Given the description of an element on the screen output the (x, y) to click on. 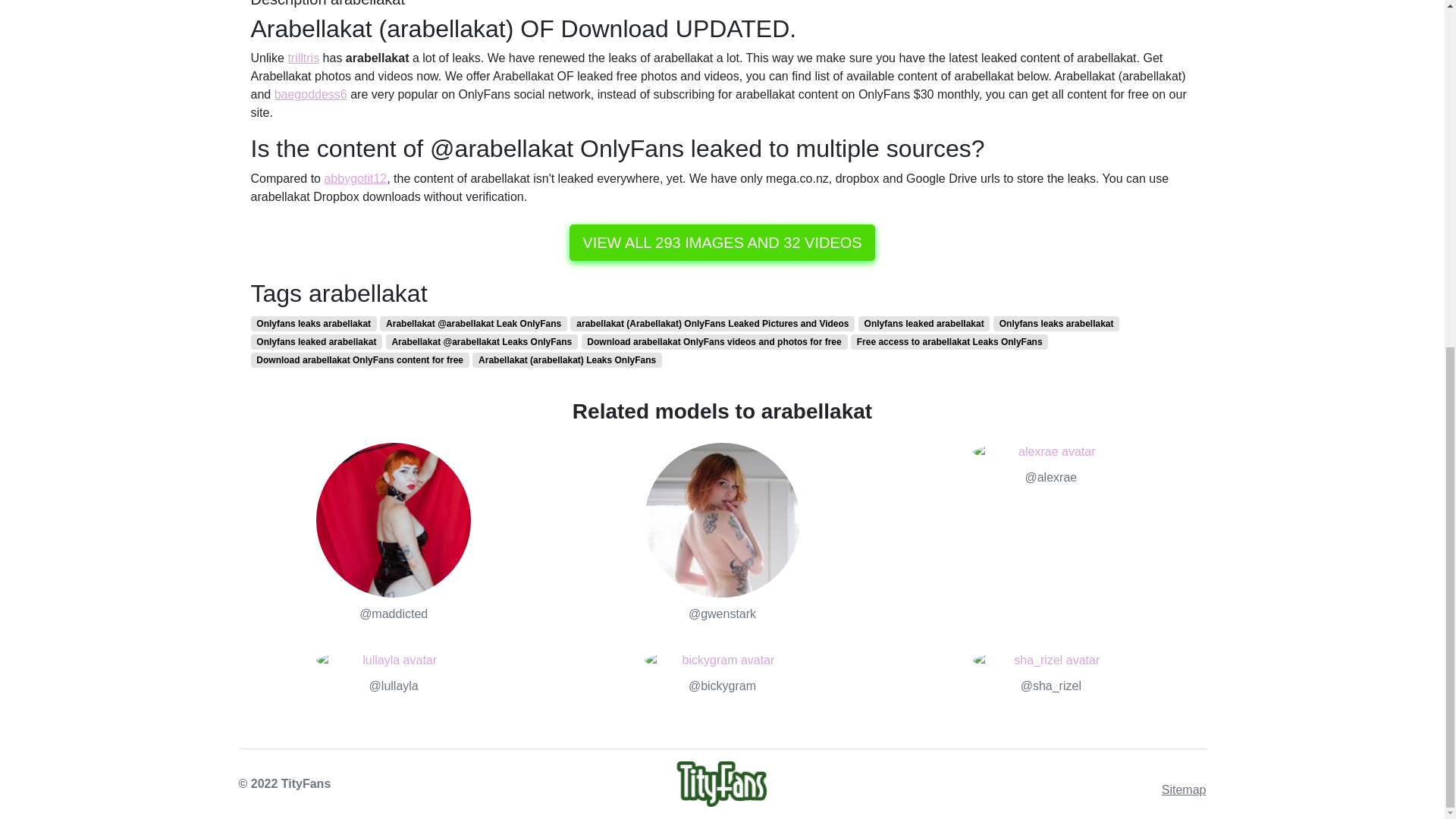
baegoddess6 (311, 93)
Sitemap (1184, 789)
VIEW ALL 293 IMAGES AND 32 VIDEOS (722, 242)
trilltris (302, 57)
abbygotit12 (355, 178)
